Given the description of an element on the screen output the (x, y) to click on. 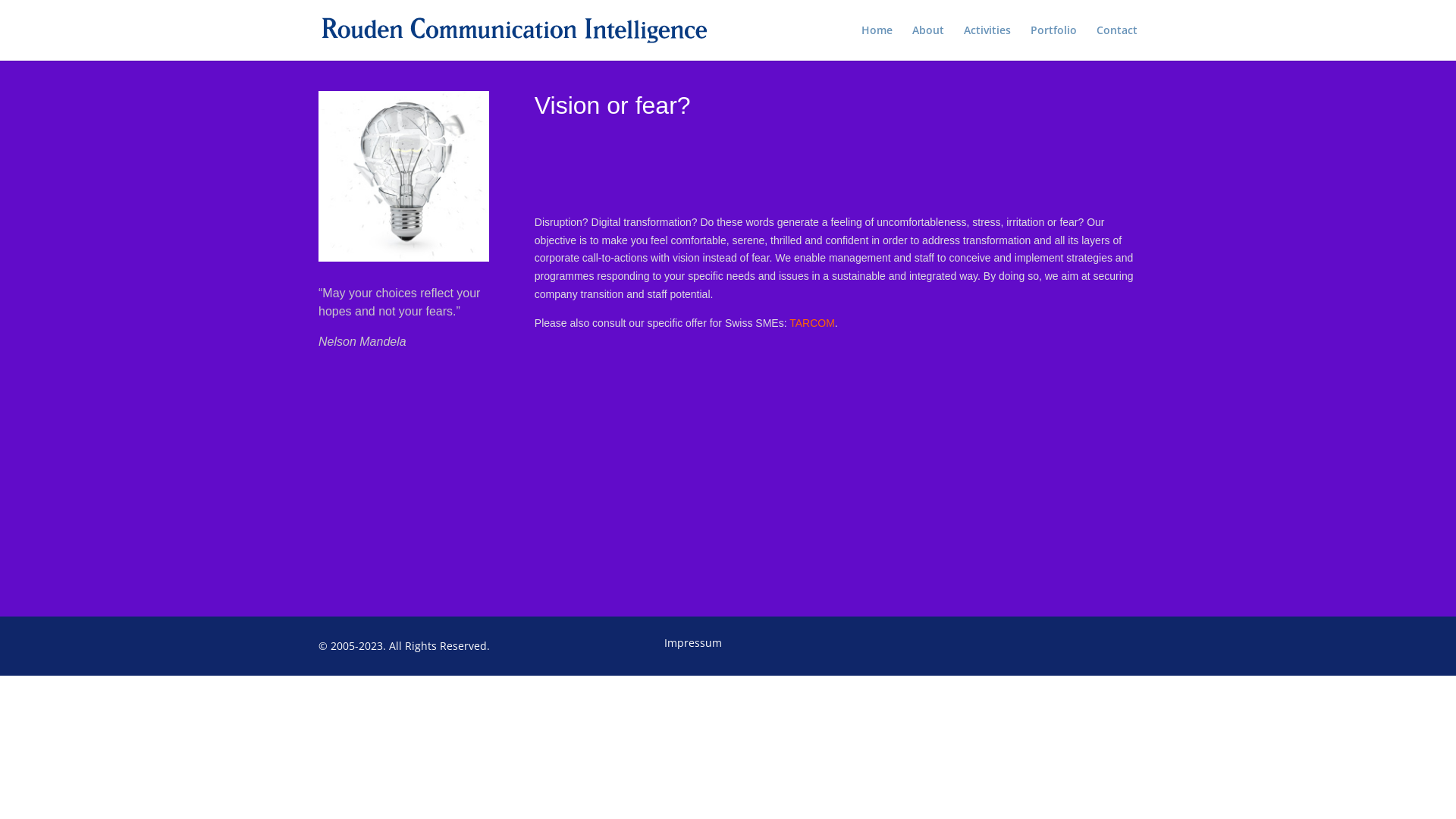
Contact Element type: text (1116, 42)
Home Element type: text (876, 42)
Activities Element type: text (986, 42)
Portfolio Element type: text (1053, 42)
TARCOM Element type: text (811, 322)
About Element type: text (928, 42)
